Given the description of an element on the screen output the (x, y) to click on. 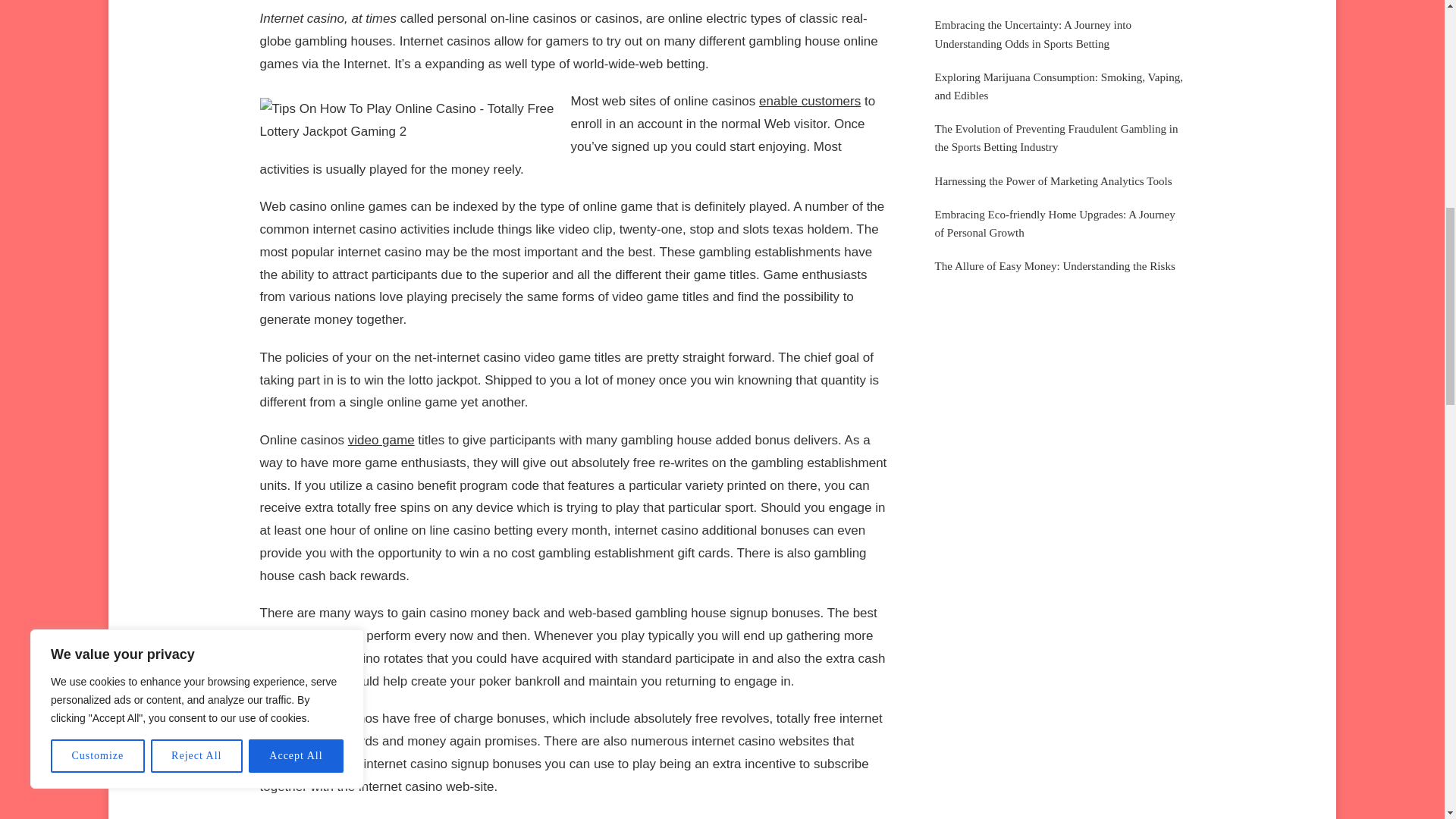
enable customers (809, 101)
video game (380, 440)
